Given the description of an element on the screen output the (x, y) to click on. 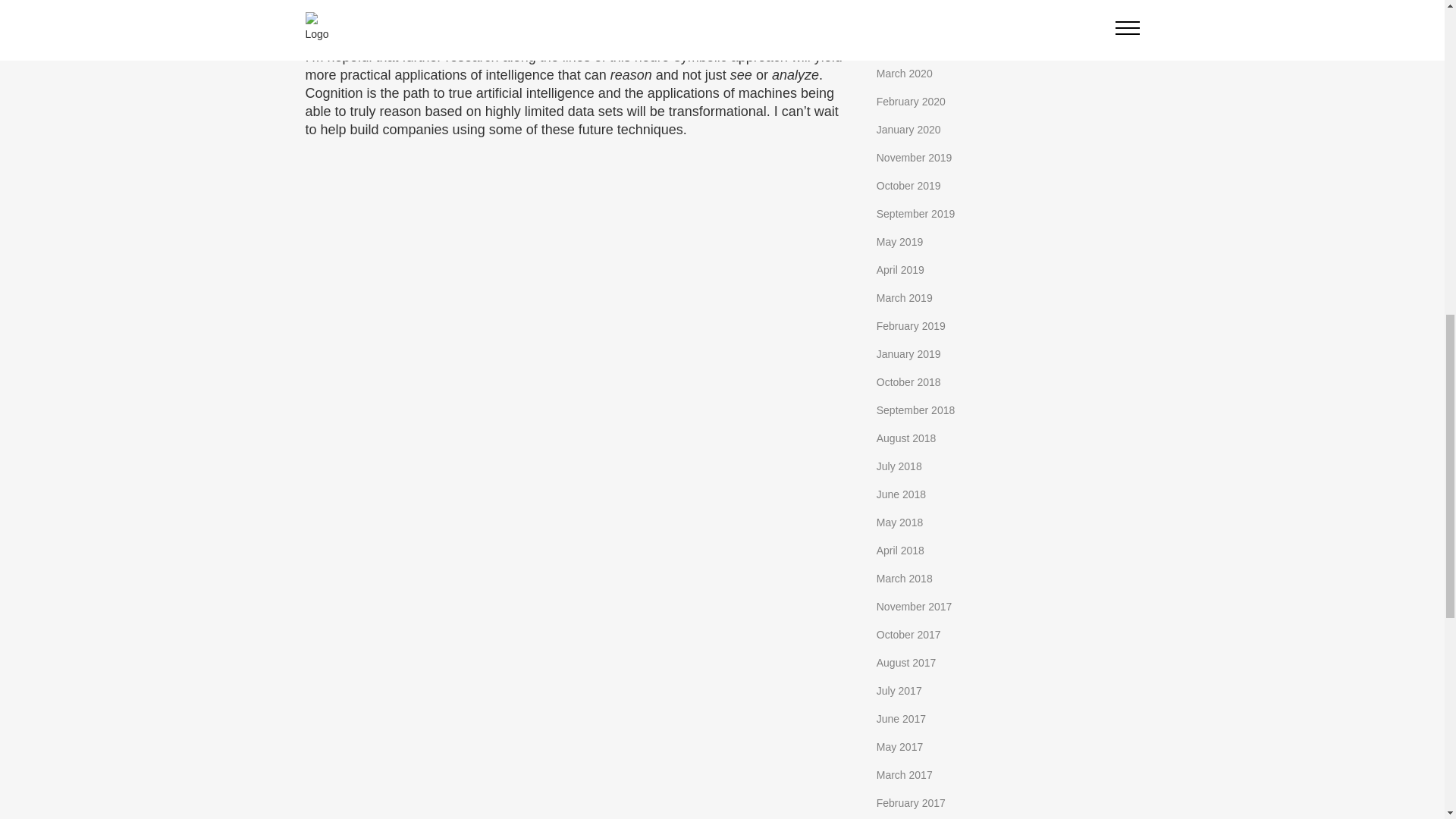
March 2019 (904, 297)
May 2020 (899, 17)
April 2020 (900, 45)
February 2019 (910, 326)
September 2019 (915, 214)
July 2018 (898, 466)
November 2019 (914, 157)
June 2018 (901, 494)
January 2020 (908, 129)
September 2018 (915, 410)
February 2020 (910, 101)
January 2019 (908, 354)
October 2019 (908, 185)
October 2018 (908, 381)
August 2018 (906, 438)
